Given the description of an element on the screen output the (x, y) to click on. 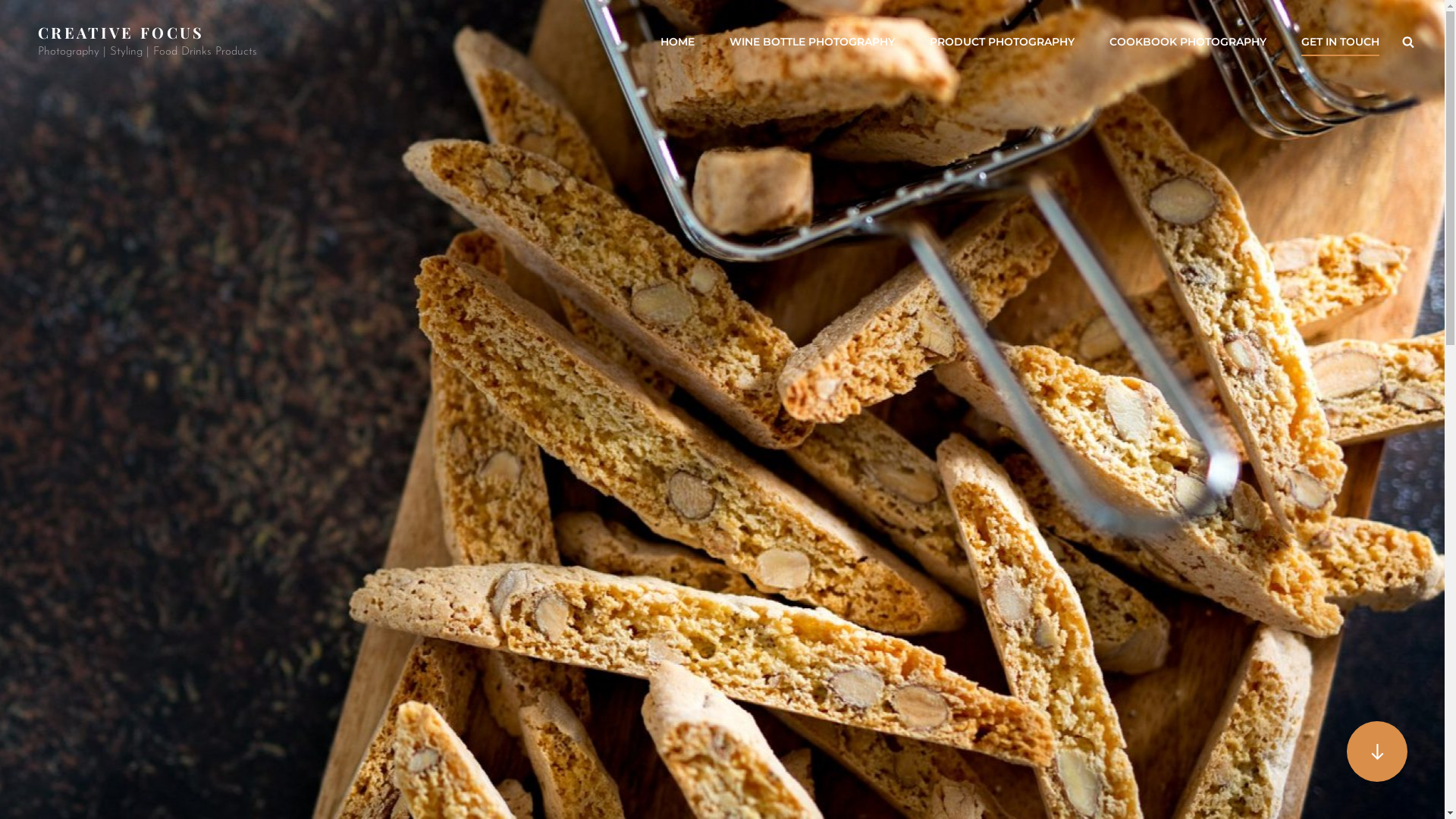
Search Element type: text (1407, 41)
HOME Element type: text (677, 41)
PRODUCT PHOTOGRAPHY Element type: text (1001, 41)
GET IN TOUCH Element type: text (1340, 41)
COOKBOOK PHOTOGRAPHY Element type: text (1187, 41)
CREATIVE FOCUS Element type: text (120, 31)
WINE BOTTLE PHOTOGRAPHY Element type: text (812, 41)
